Given the description of an element on the screen output the (x, y) to click on. 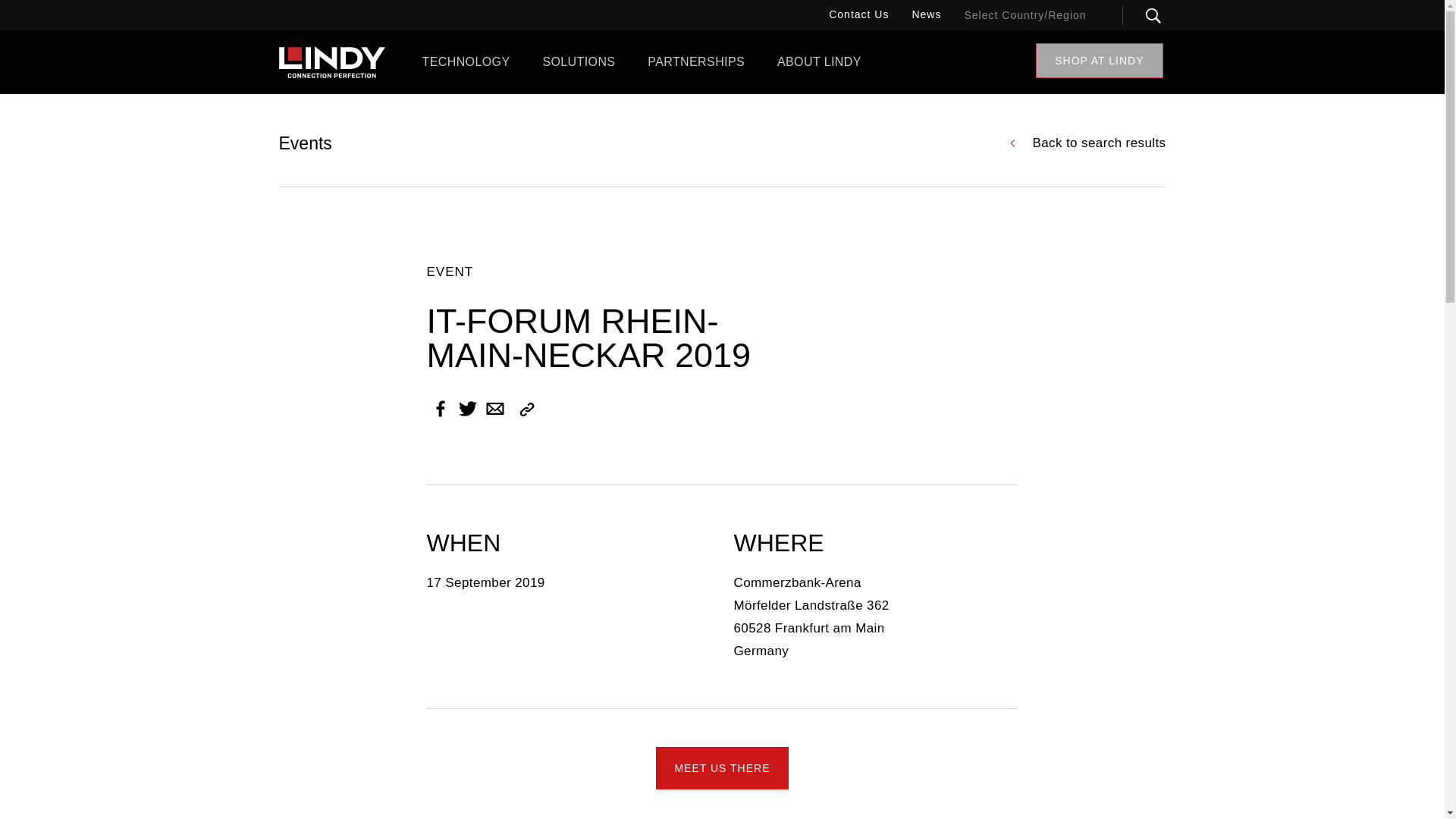
TECHNOLOGY (465, 62)
Go to the Lindy homepage (332, 61)
News (925, 15)
SOLUTIONS (577, 62)
Contact Us (857, 15)
